Given the description of an element on the screen output the (x, y) to click on. 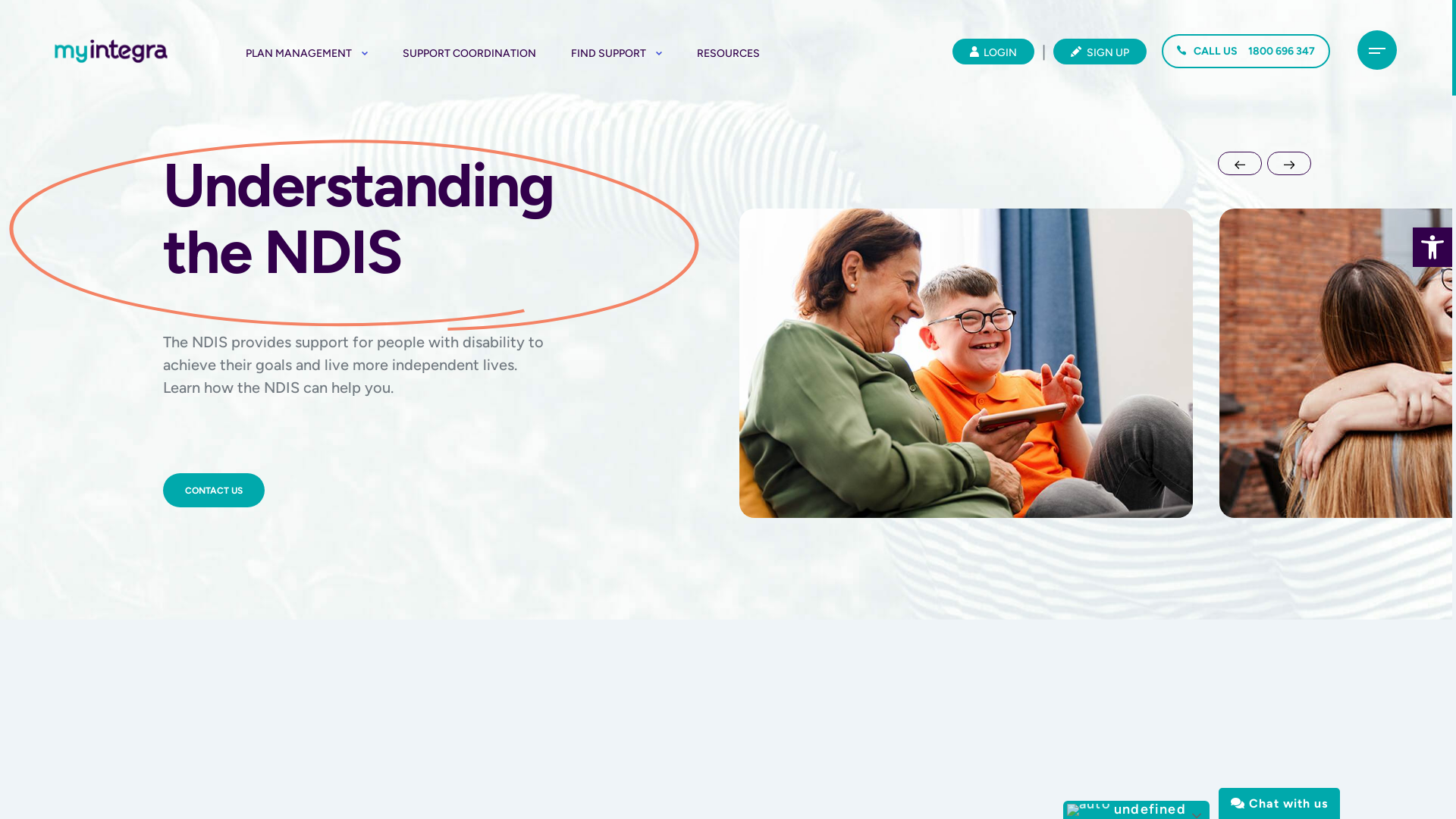
Open toolbar
Accessibility Tools Element type: text (1432, 246)
PLAN MANAGEMENT Element type: text (306, 53)
LOGIN Element type: text (993, 51)
CONTACT US Element type: text (213, 490)
CALL US
1800 696 347 Element type: text (1245, 51)
FIND SUPPORT Element type: text (616, 53)
RESOURCES Element type: text (727, 53)
SUPPORT COORDINATION Element type: text (469, 53)
SIGN UP Element type: text (1099, 51)
